Given the description of an element on the screen output the (x, y) to click on. 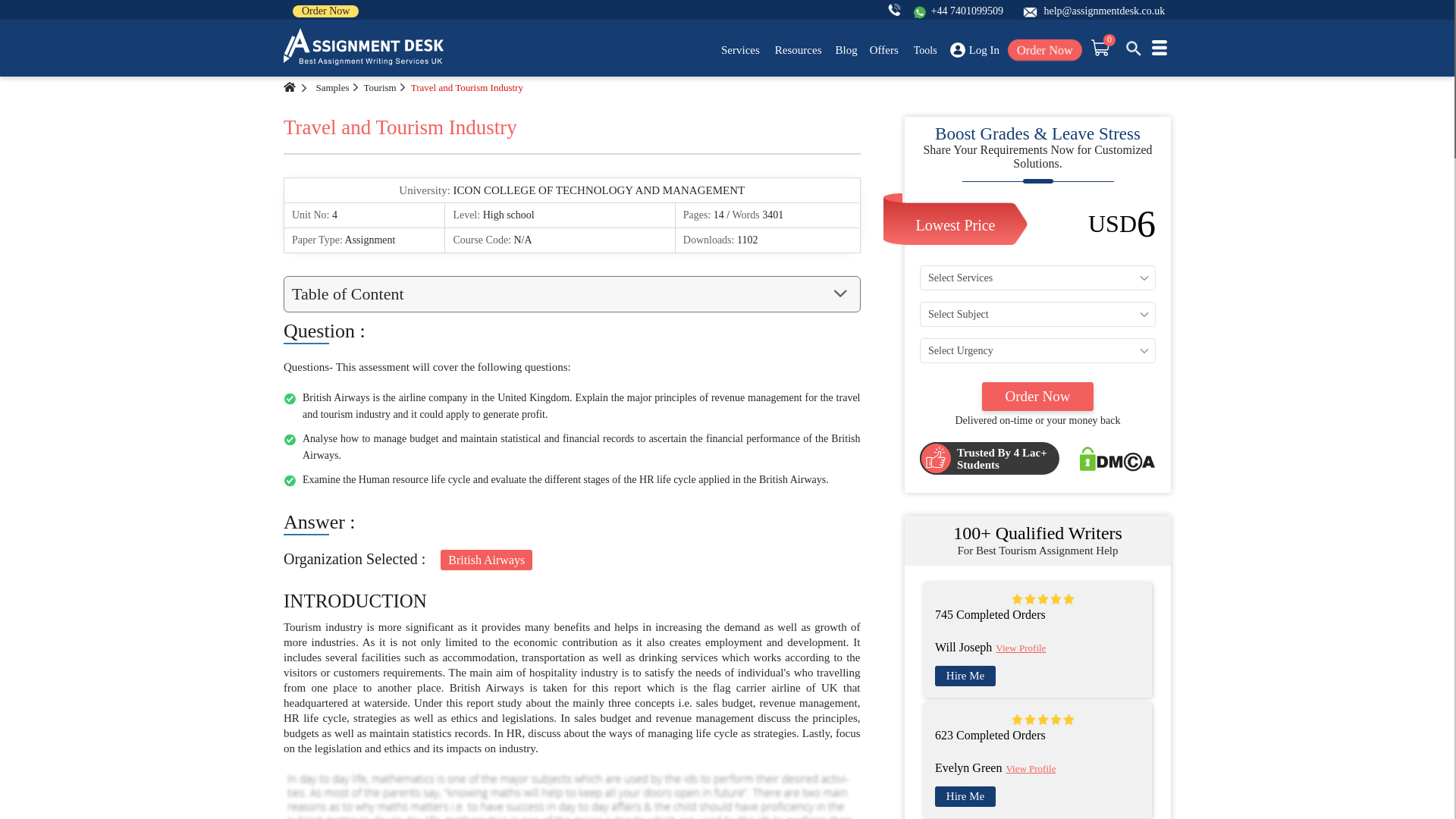
Assignment help (363, 47)
Home (289, 86)
Order Now (325, 10)
